Given the description of an element on the screen output the (x, y) to click on. 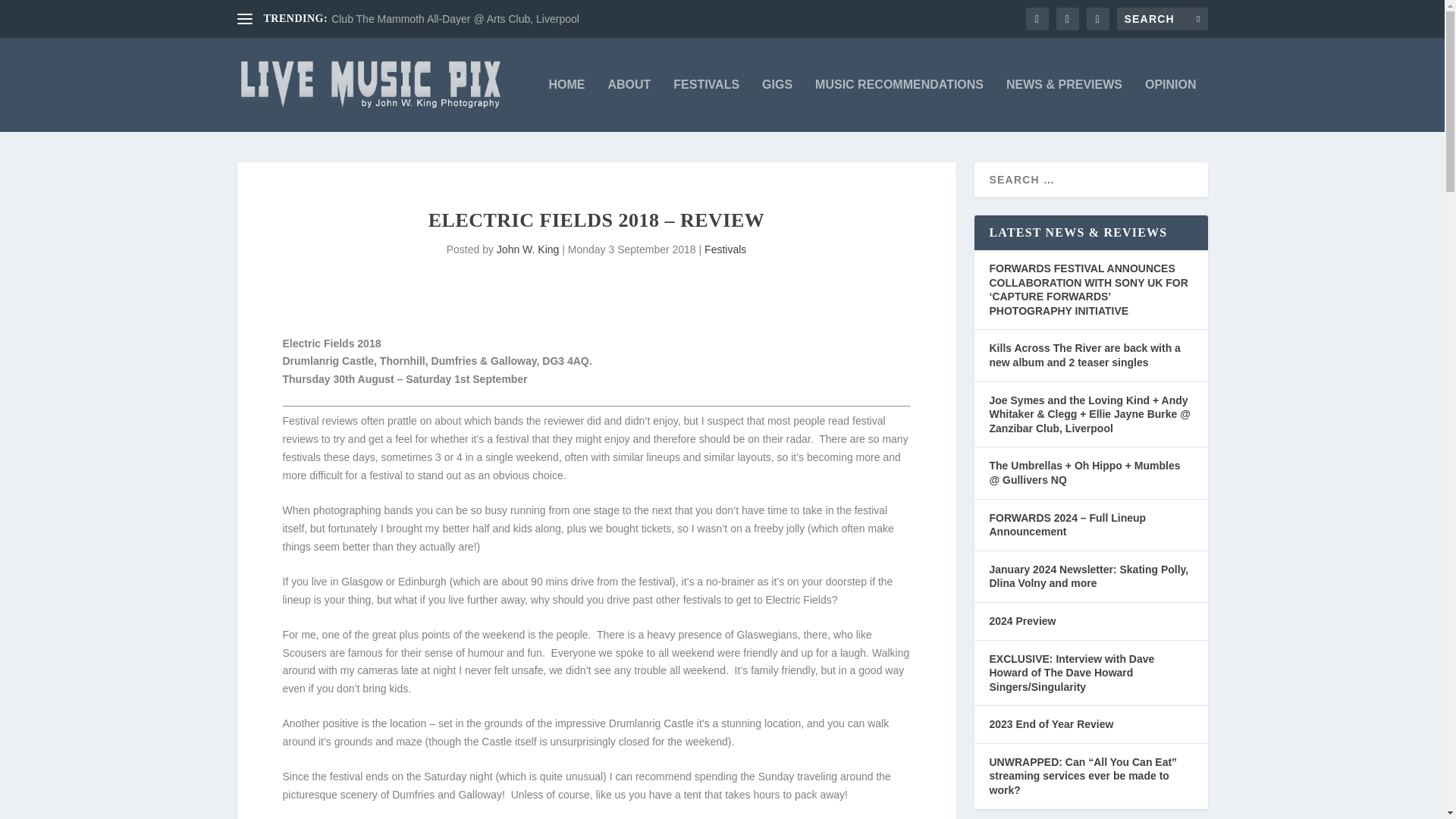
OPINION (1170, 104)
John W. King (527, 249)
FESTIVALS (705, 104)
Search for: (1161, 18)
Festivals (724, 249)
Posts by John W. King (527, 249)
MUSIC RECOMMENDATIONS (899, 104)
